Given the description of an element on the screen output the (x, y) to click on. 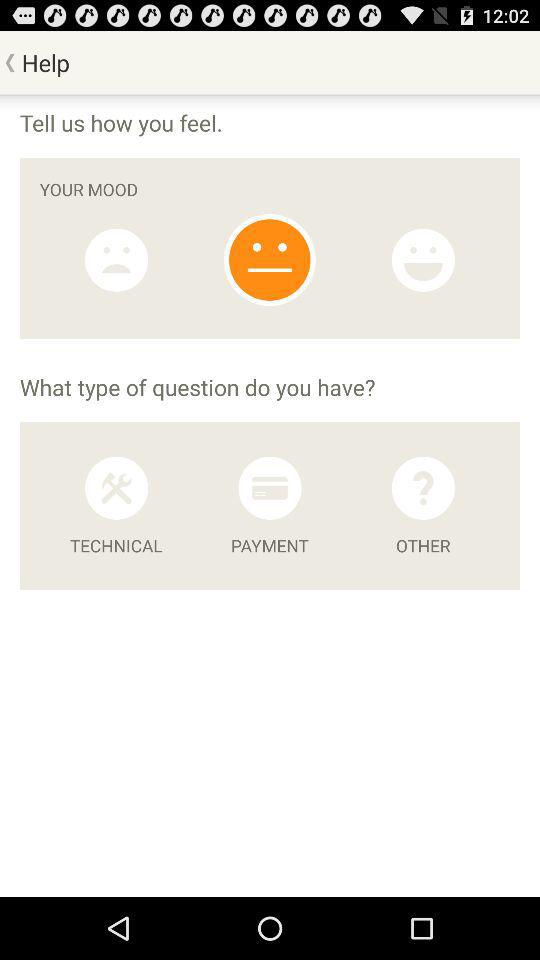
emoji (269, 260)
